Given the description of an element on the screen output the (x, y) to click on. 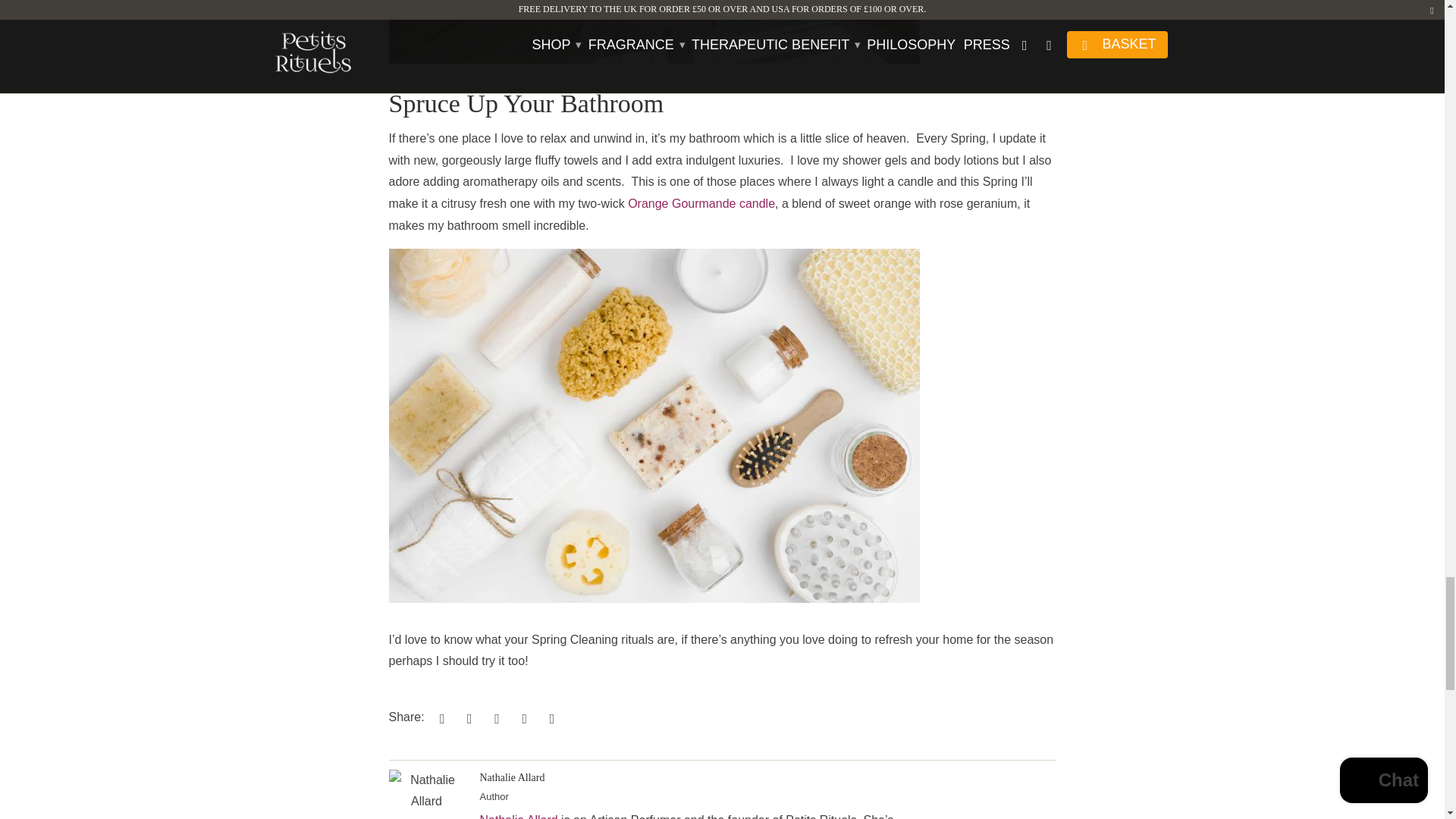
Share this on Twitter (439, 717)
Email this to a friend (549, 717)
Share this on Pinterest (494, 717)
Orange scented candle (700, 203)
Share this on Facebook (466, 717)
